Given the description of an element on the screen output the (x, y) to click on. 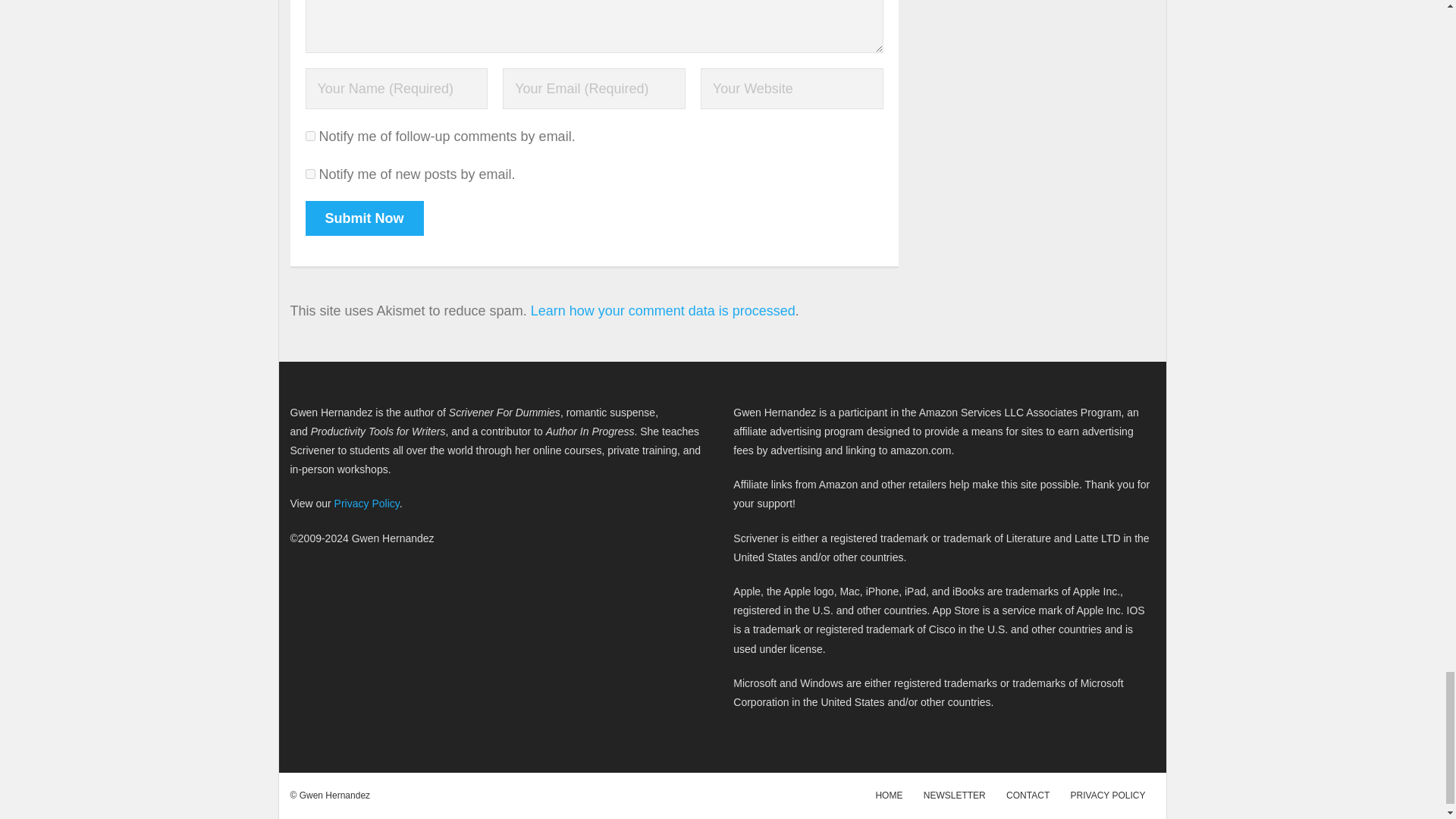
subscribe (309, 173)
Submit Now (363, 217)
subscribe (309, 135)
